Given the description of an element on the screen output the (x, y) to click on. 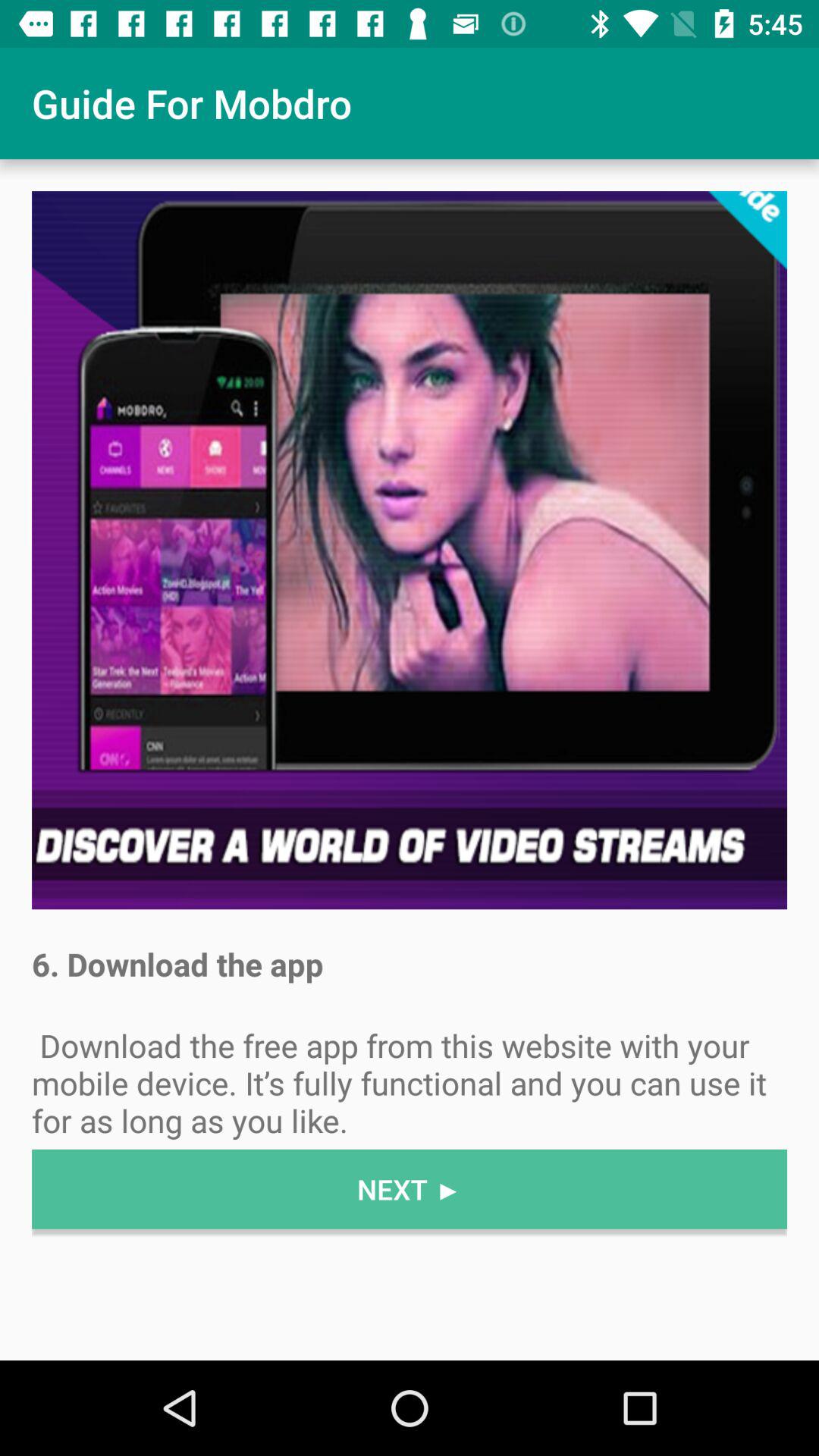
launch item below the download the free (409, 1189)
